Given the description of an element on the screen output the (x, y) to click on. 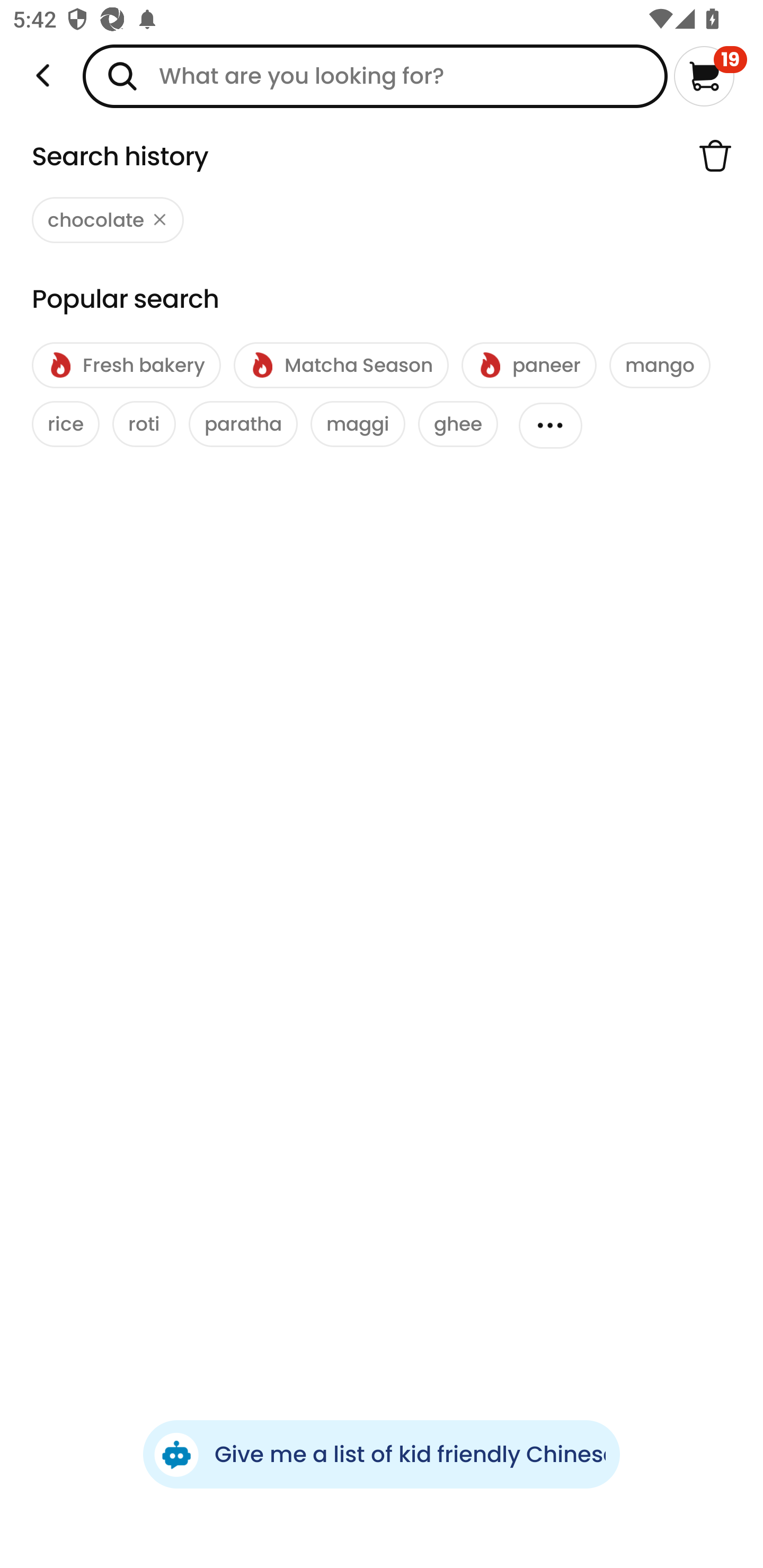
What are you looking for? (374, 75)
19 (709, 75)
Weee! (42, 76)
chocolate (107, 220)
Fresh bakery (126, 364)
Matcha Season (340, 364)
paneer (528, 364)
mango (659, 364)
rice (65, 423)
roti (144, 423)
paratha (242, 423)
maggi (357, 423)
ghee (458, 423)
